Given the description of an element on the screen output the (x, y) to click on. 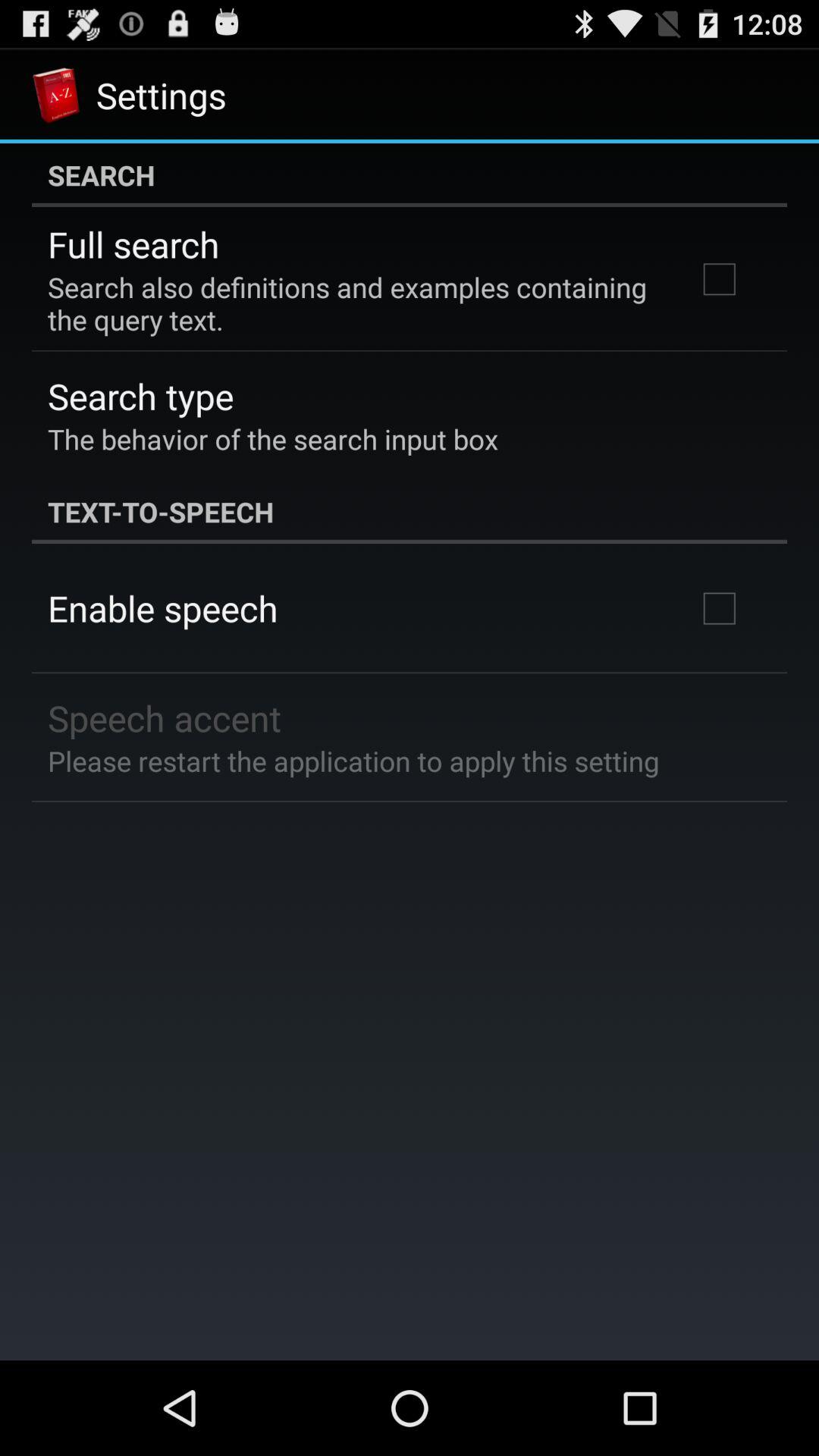
scroll until full search icon (133, 244)
